Given the description of an element on the screen output the (x, y) to click on. 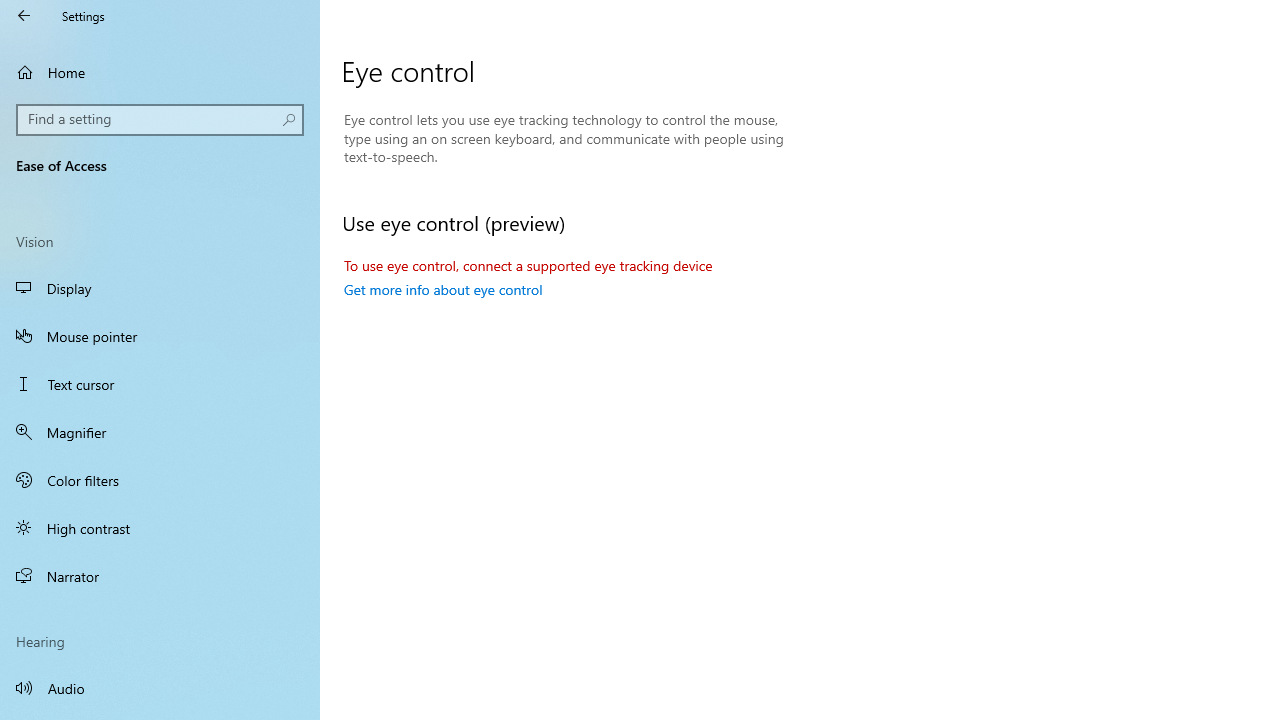
Home (160, 71)
Magnifier (160, 431)
Text cursor (160, 384)
Narrator (160, 575)
Back (24, 15)
High contrast (160, 527)
Display (160, 287)
Get more info about eye control (443, 289)
Audio (160, 687)
Color filters (160, 479)
Mouse pointer (160, 335)
Search box, Find a setting (160, 119)
